Given the description of an element on the screen output the (x, y) to click on. 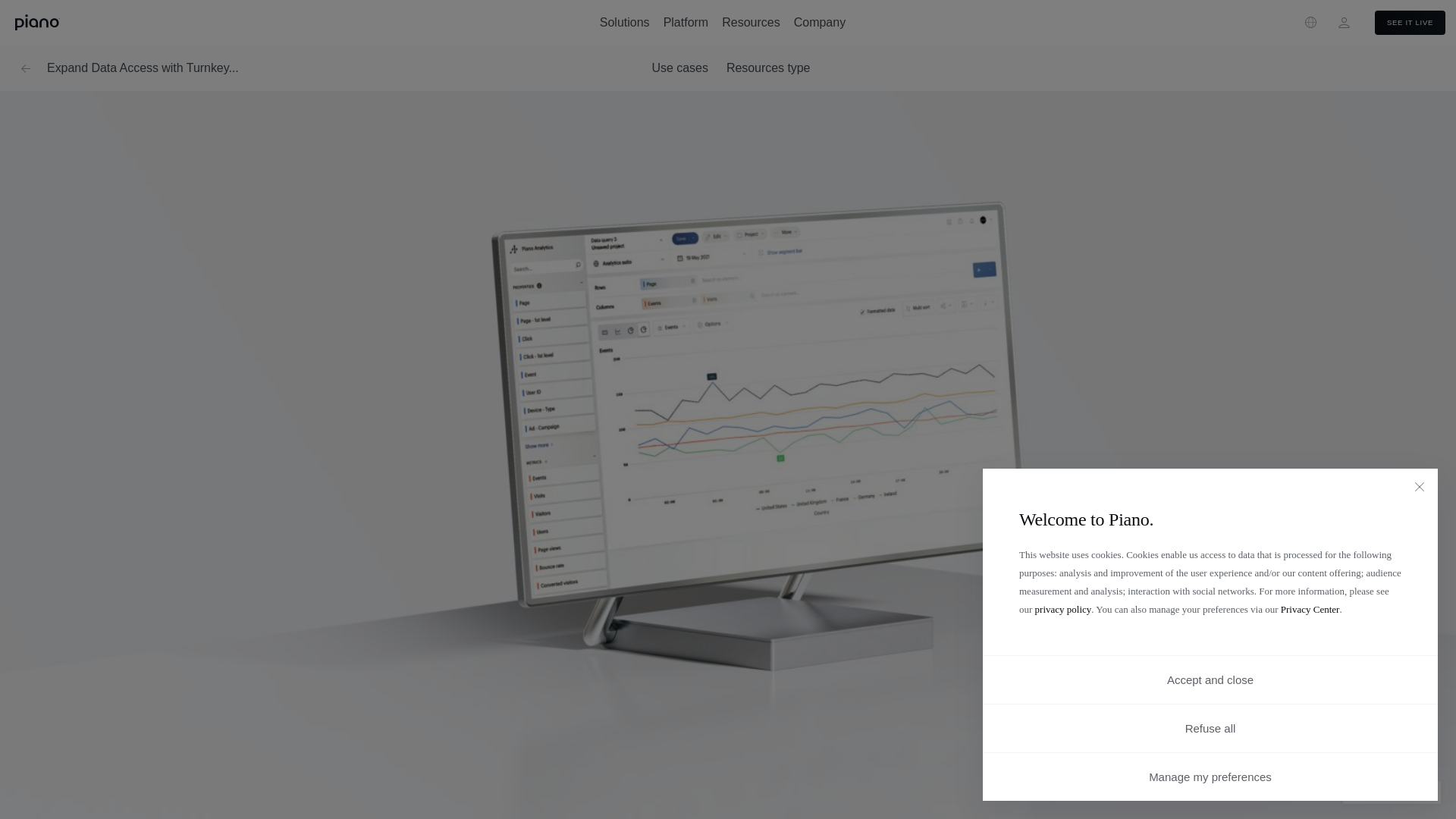
Refuse all (1210, 727)
Resources type (768, 67)
Manage my preferences (1210, 776)
Use cases (679, 67)
Piano Privacy Policy (1063, 609)
Accept and close (1210, 679)
